Given the description of an element on the screen output the (x, y) to click on. 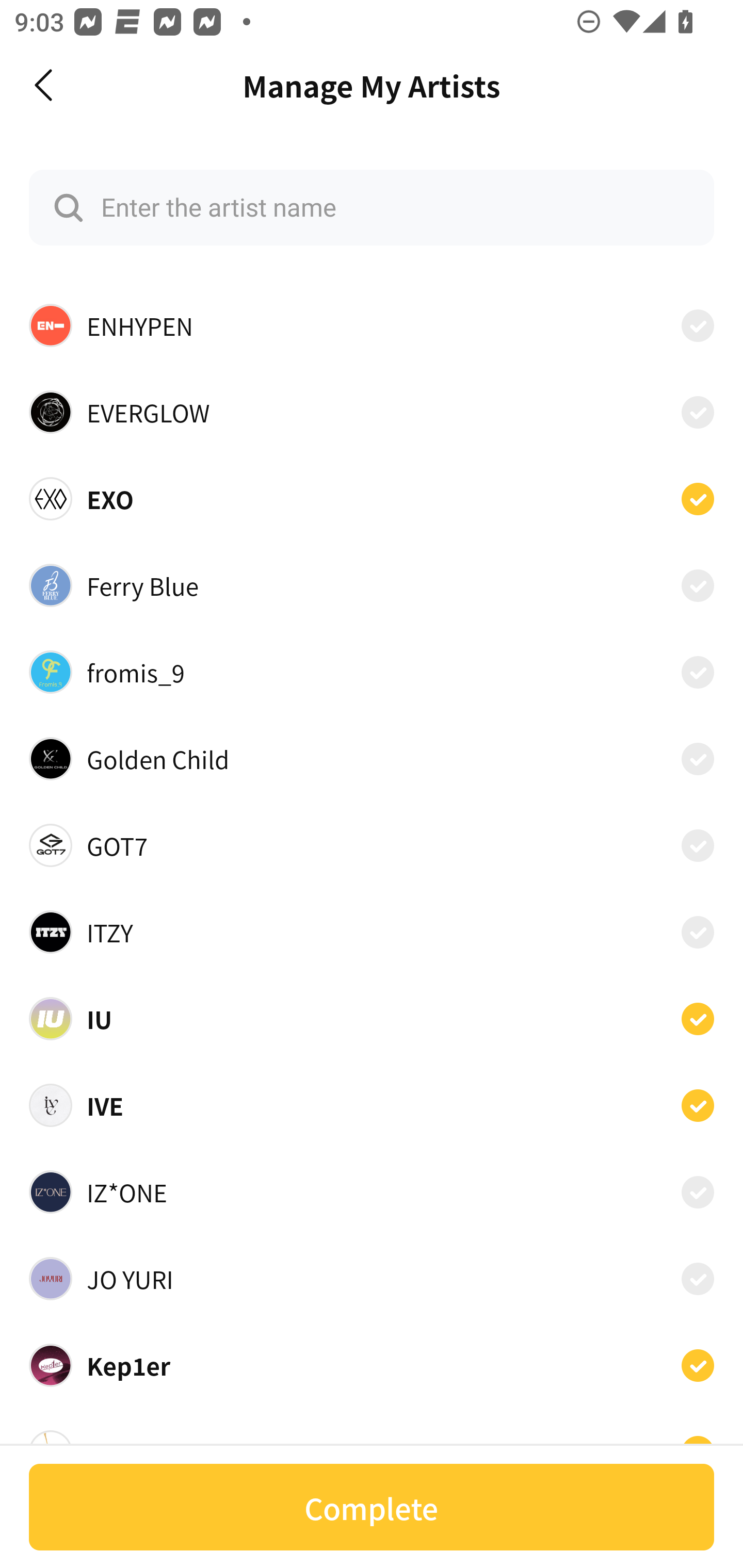
Enter the artist name (371, 207)
ENHYPEN (371, 325)
EVERGLOW (371, 412)
EXO (371, 498)
Ferry Blue (371, 585)
fromis_9 (371, 671)
Golden Child (371, 758)
GOT7 (371, 845)
ITZY (371, 932)
IU (371, 1018)
IVE (371, 1105)
IZ*ONE (371, 1191)
JO YURI (371, 1278)
Kep1er (371, 1365)
Complete (371, 1507)
